Given the description of an element on the screen output the (x, y) to click on. 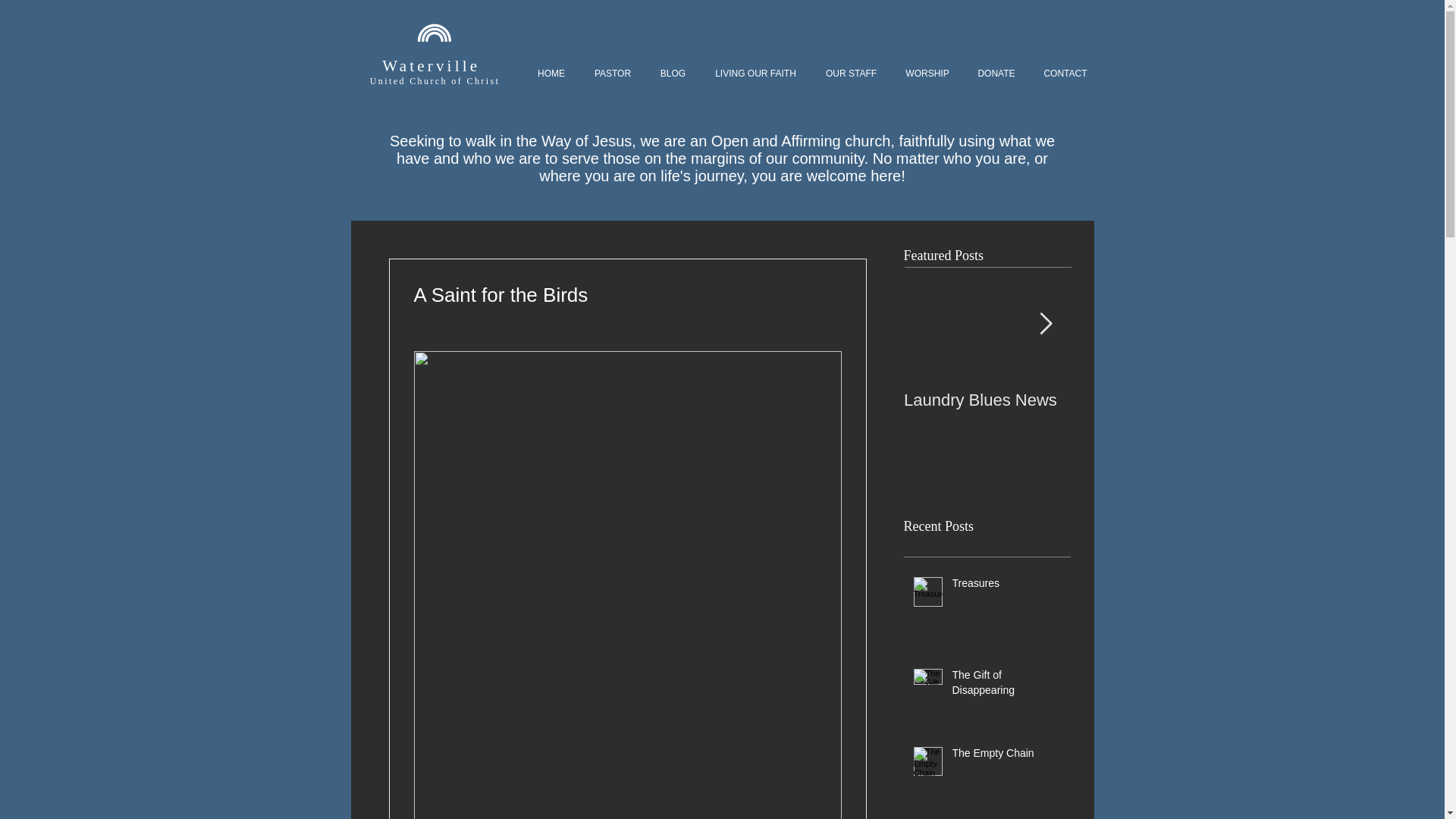
DONATE (995, 73)
The Gift of Disappearing (1006, 685)
The Empty Chain (1006, 756)
PASTOR (612, 73)
Laundry Blues News (987, 400)
LIVING OUR FAITH (755, 73)
WORSHIP (927, 73)
Treasures (1006, 586)
BLOG (673, 73)
HOME (550, 73)
OUR STAFF (850, 73)
Waterville  (433, 65)
CONTACT (1065, 73)
